Given the description of an element on the screen output the (x, y) to click on. 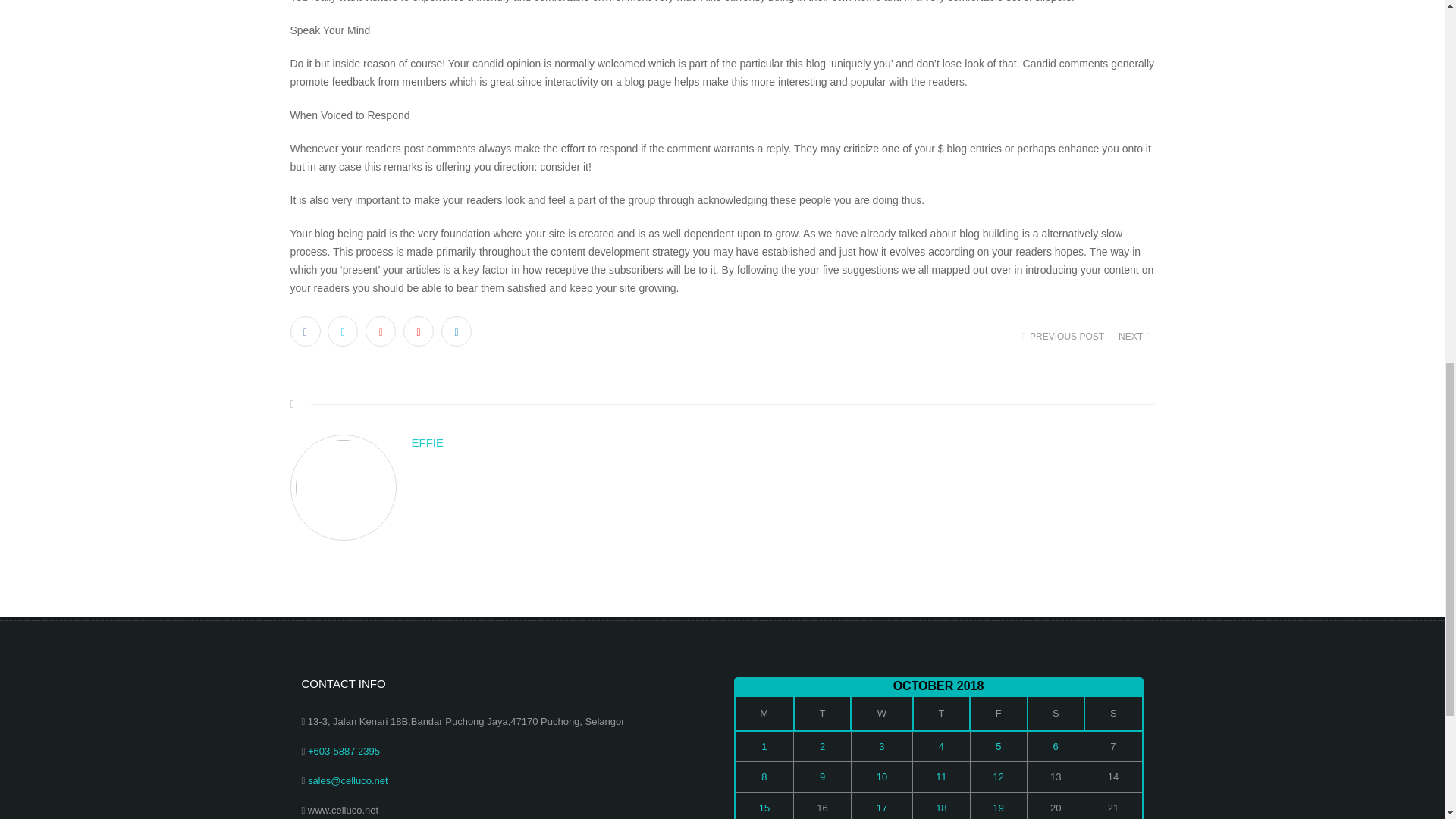
Friday (997, 713)
Sunday (1113, 713)
Saturday (1055, 713)
Monday (763, 713)
Wednesday (881, 713)
NEXT (1133, 336)
PREVIOUS POST (1065, 336)
Tuesday (821, 713)
EFFIE (782, 443)
Thursday (940, 713)
